Given the description of an element on the screen output the (x, y) to click on. 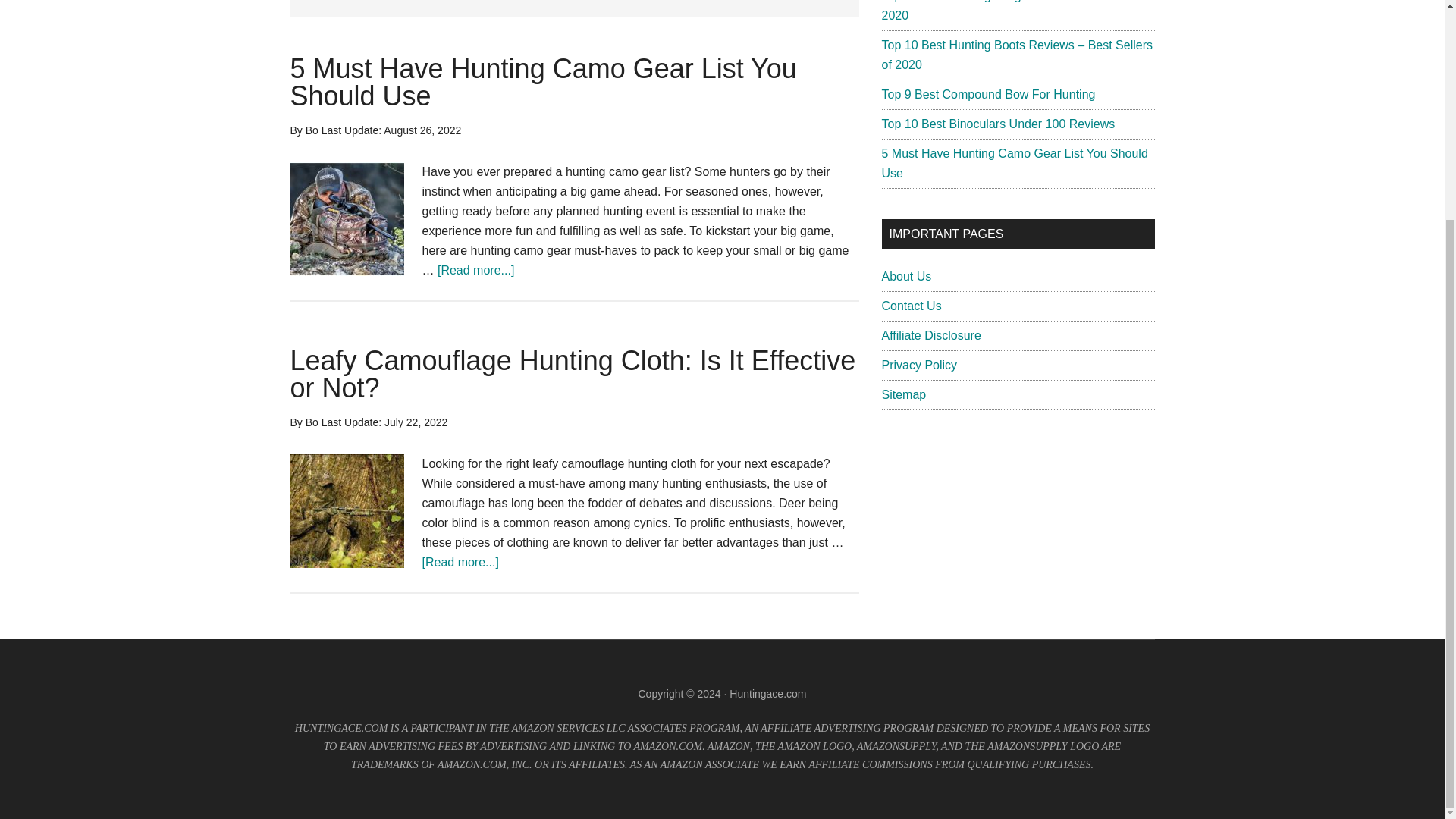
Privacy Policy (918, 364)
Affiliate Disclosure (929, 335)
About Us (905, 276)
Contact Us (910, 305)
5 Must Have Hunting Camo Gear List You Should Use (1013, 163)
5 Must Have Hunting Camo Gear List You Should Use (542, 82)
Leafy Camouflage Hunting Cloth: Is It Effective or Not? (572, 373)
Top 10 Best Binoculars Under 100 Reviews (997, 123)
Sitemap (903, 394)
Top 10 Best Hunting Slingshot For Survival in 2020 (1002, 11)
